Given the description of an element on the screen output the (x, y) to click on. 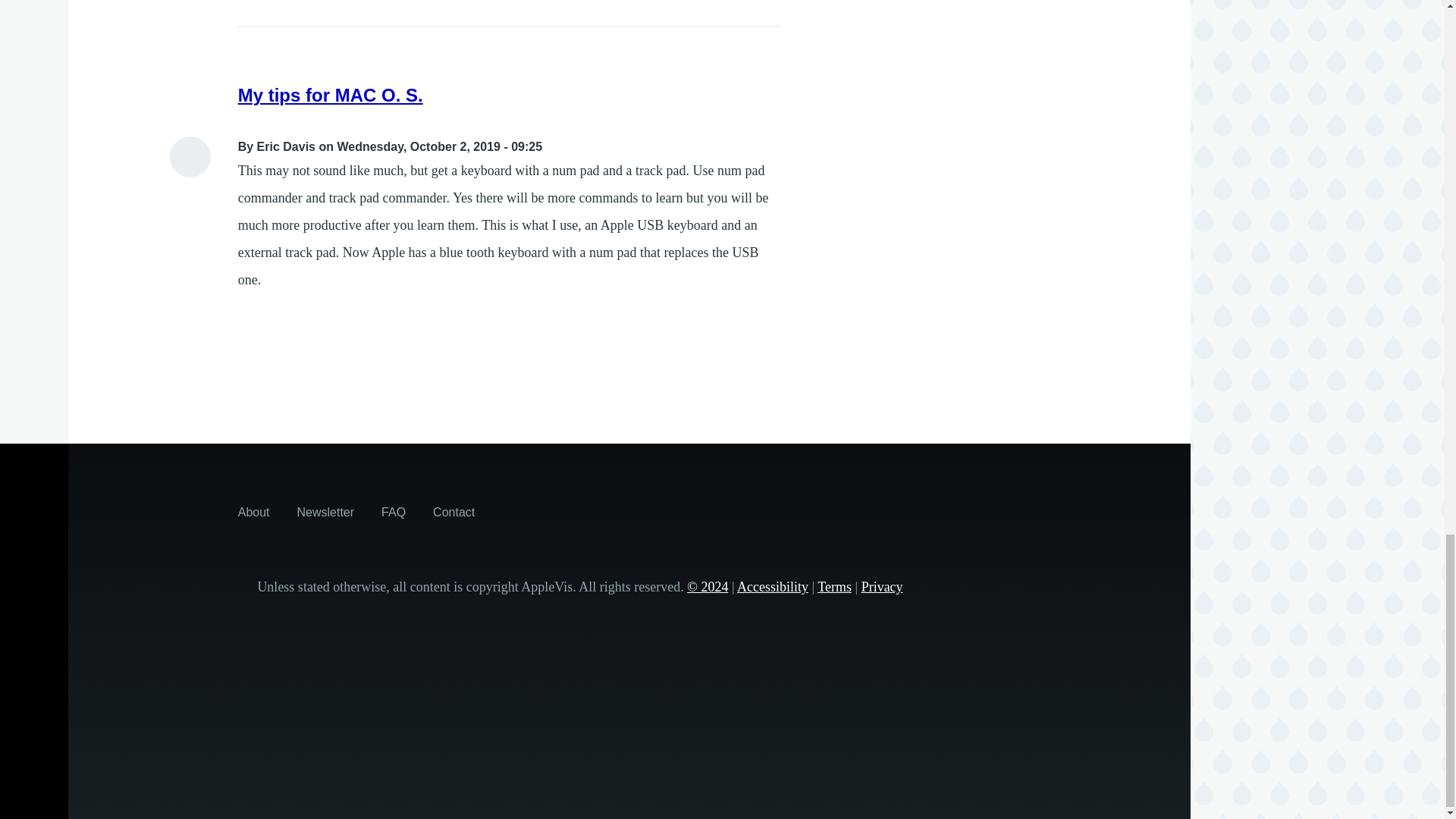
Accessibility (772, 586)
About (253, 511)
Newsletter (326, 511)
Terms (833, 586)
Newsletters (326, 511)
Contact (453, 511)
Answers to some frequently asked questions about AppleVis (393, 511)
FAQ (393, 511)
Privacy (881, 586)
My tips for MAC O. S. (330, 95)
